Given the description of an element on the screen output the (x, y) to click on. 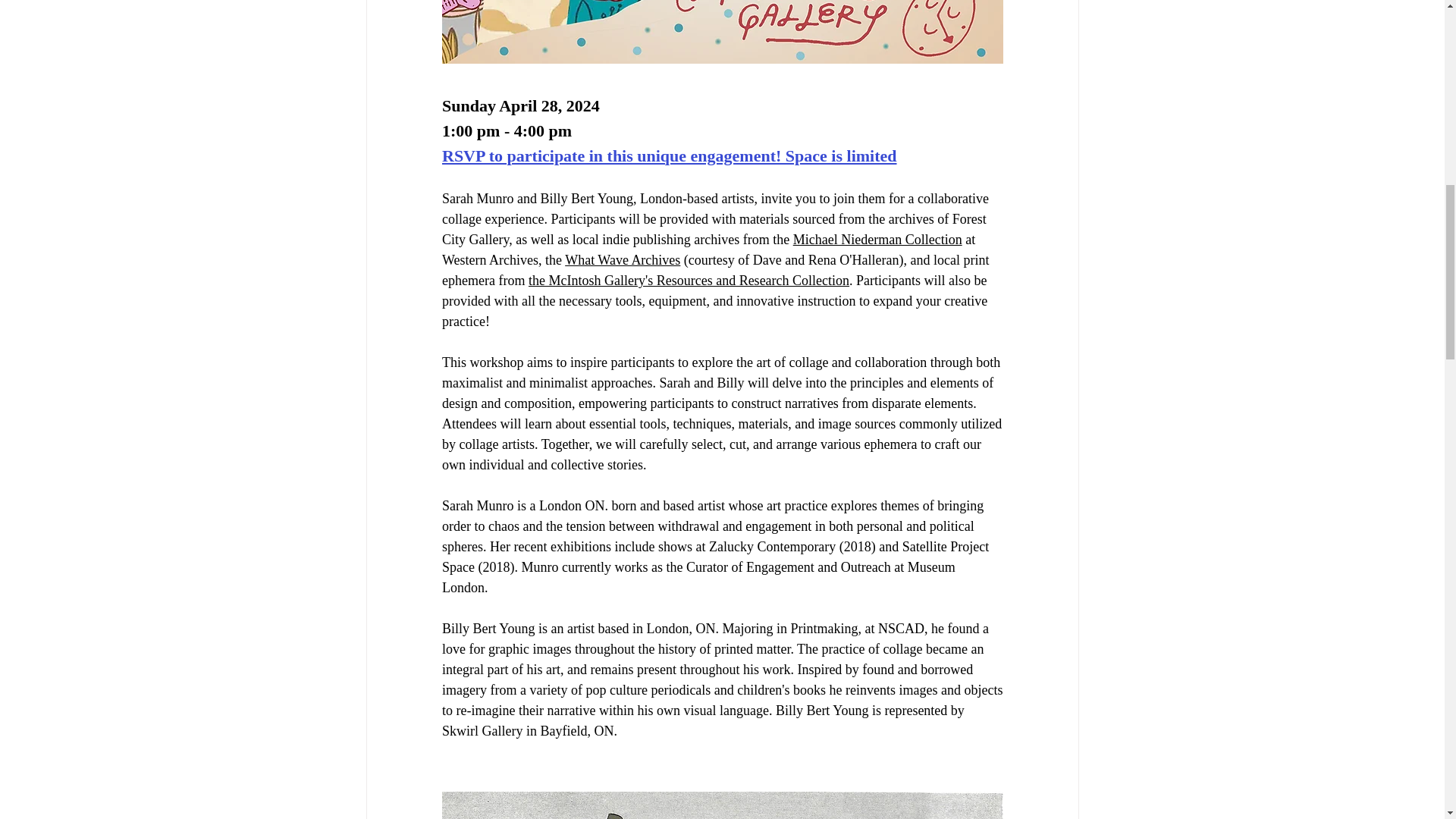
Michael Niederman Collection (876, 239)
What Wave Archives (621, 259)
the McIntosh Gallery's Resources and Research Collection (687, 280)
